Given the description of an element on the screen output the (x, y) to click on. 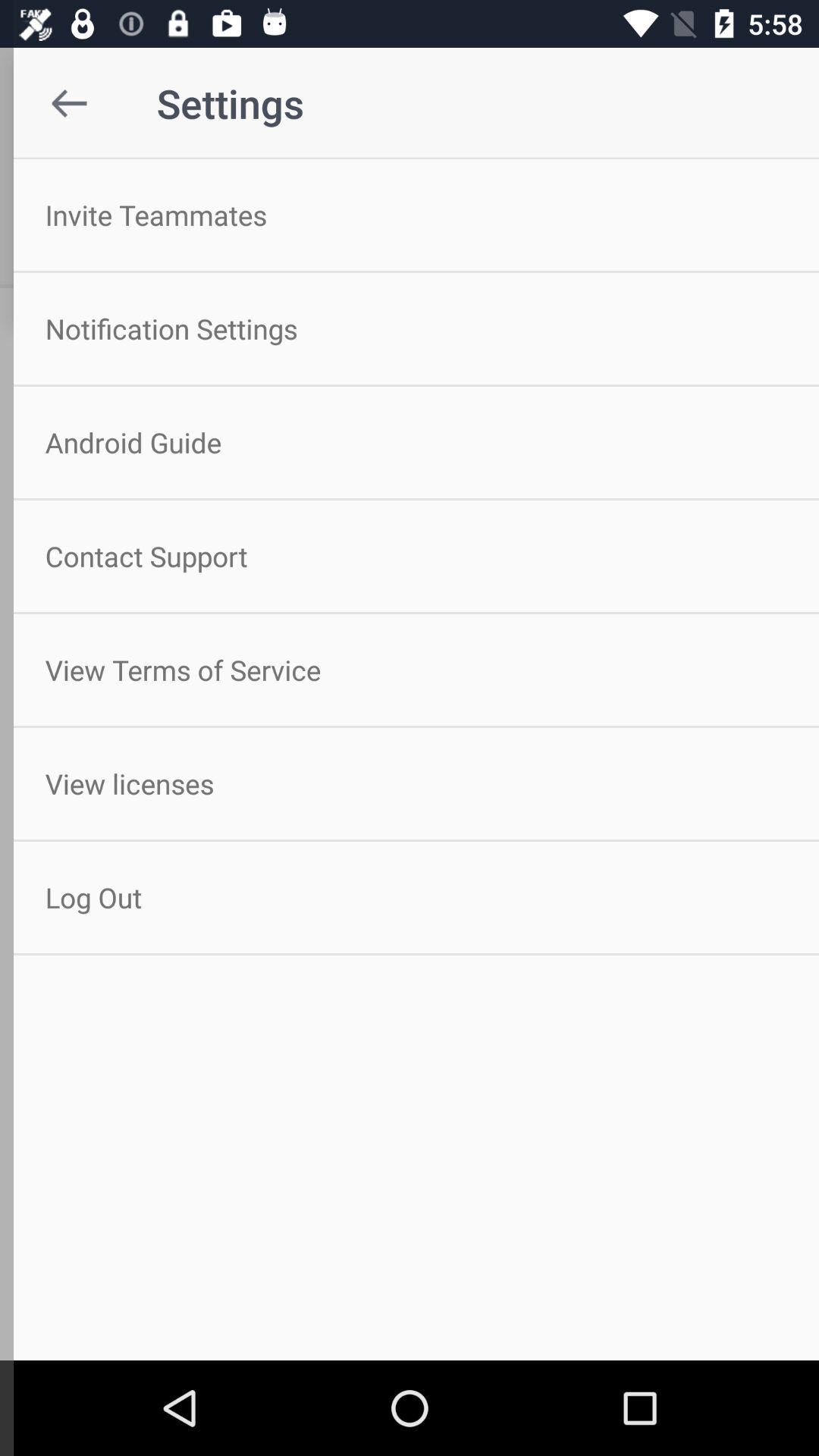
turn off invite teammates item (409, 214)
